Given the description of an element on the screen output the (x, y) to click on. 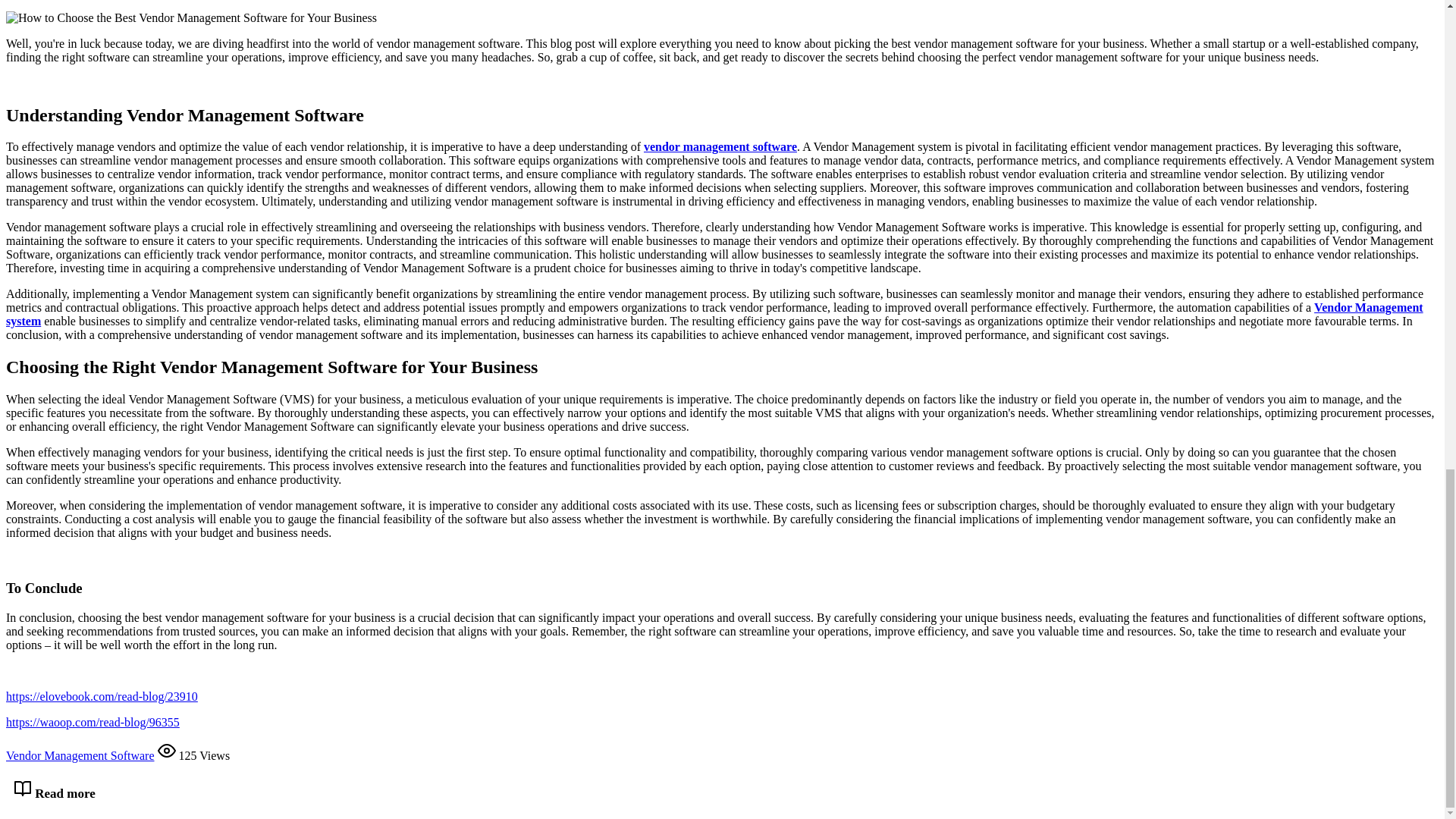
Vendor Management system (714, 314)
vendor management software (719, 146)
Vendor Management Software (79, 755)
